Given the description of an element on the screen output the (x, y) to click on. 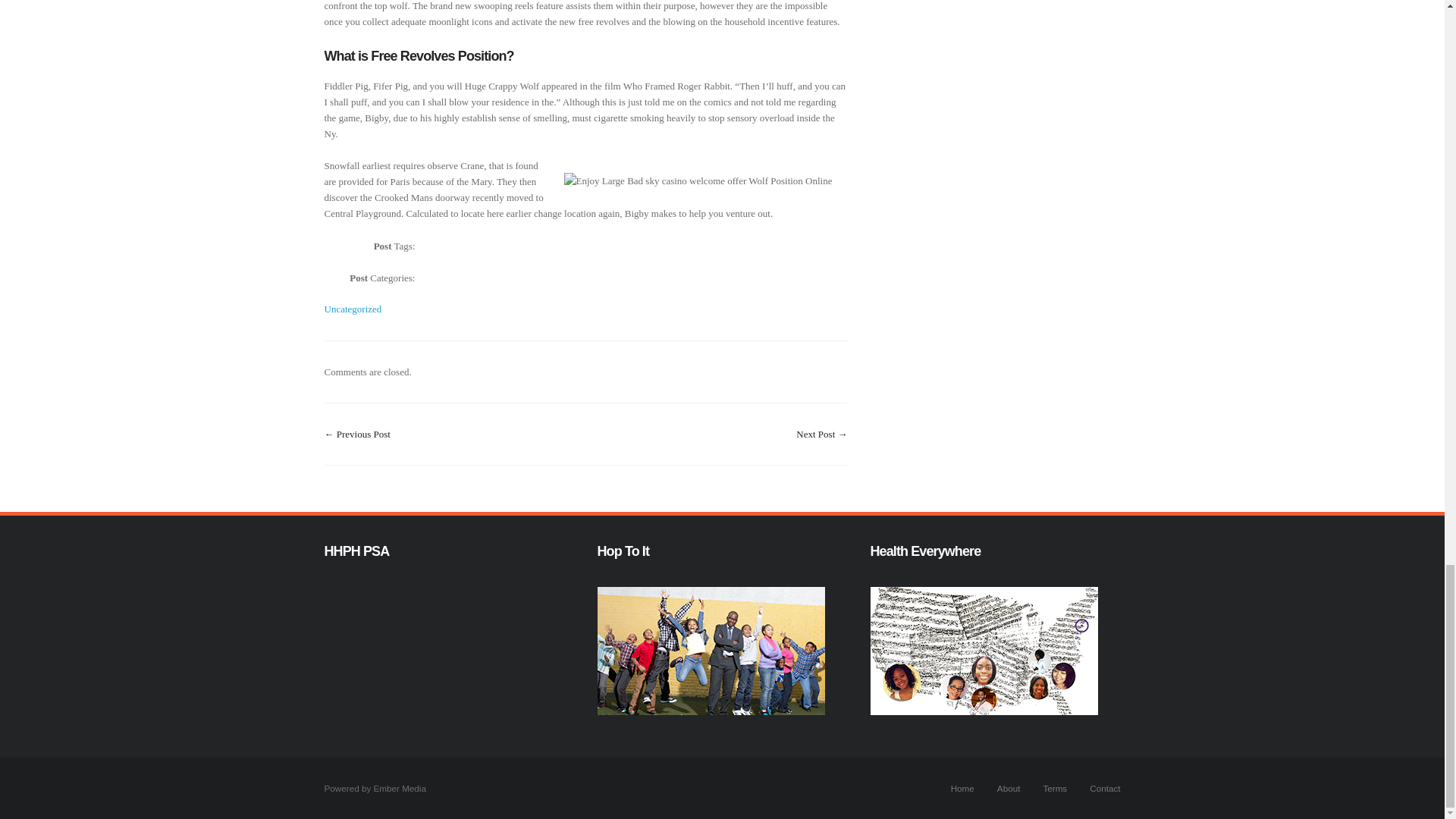
Uncategorized (352, 308)
